Given the description of an element on the screen output the (x, y) to click on. 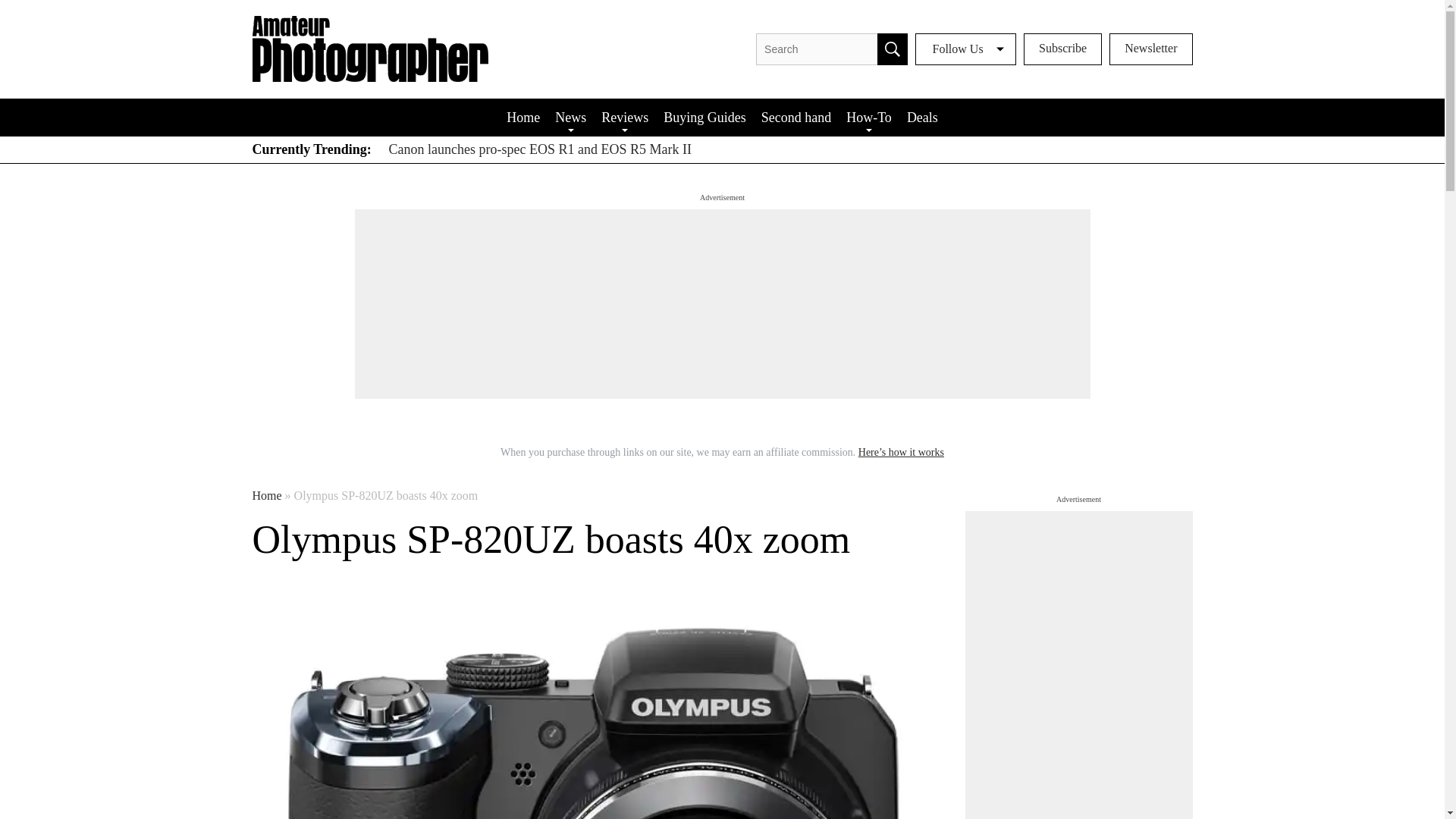
News (570, 117)
Reviews (625, 117)
Deals (921, 117)
Search (892, 49)
Home (523, 117)
Follow Us (965, 49)
Subscribe (1062, 49)
How-To (868, 117)
Buying Guides (705, 117)
Second hand (796, 117)
Newsletter (1150, 49)
